Given the description of an element on the screen output the (x, y) to click on. 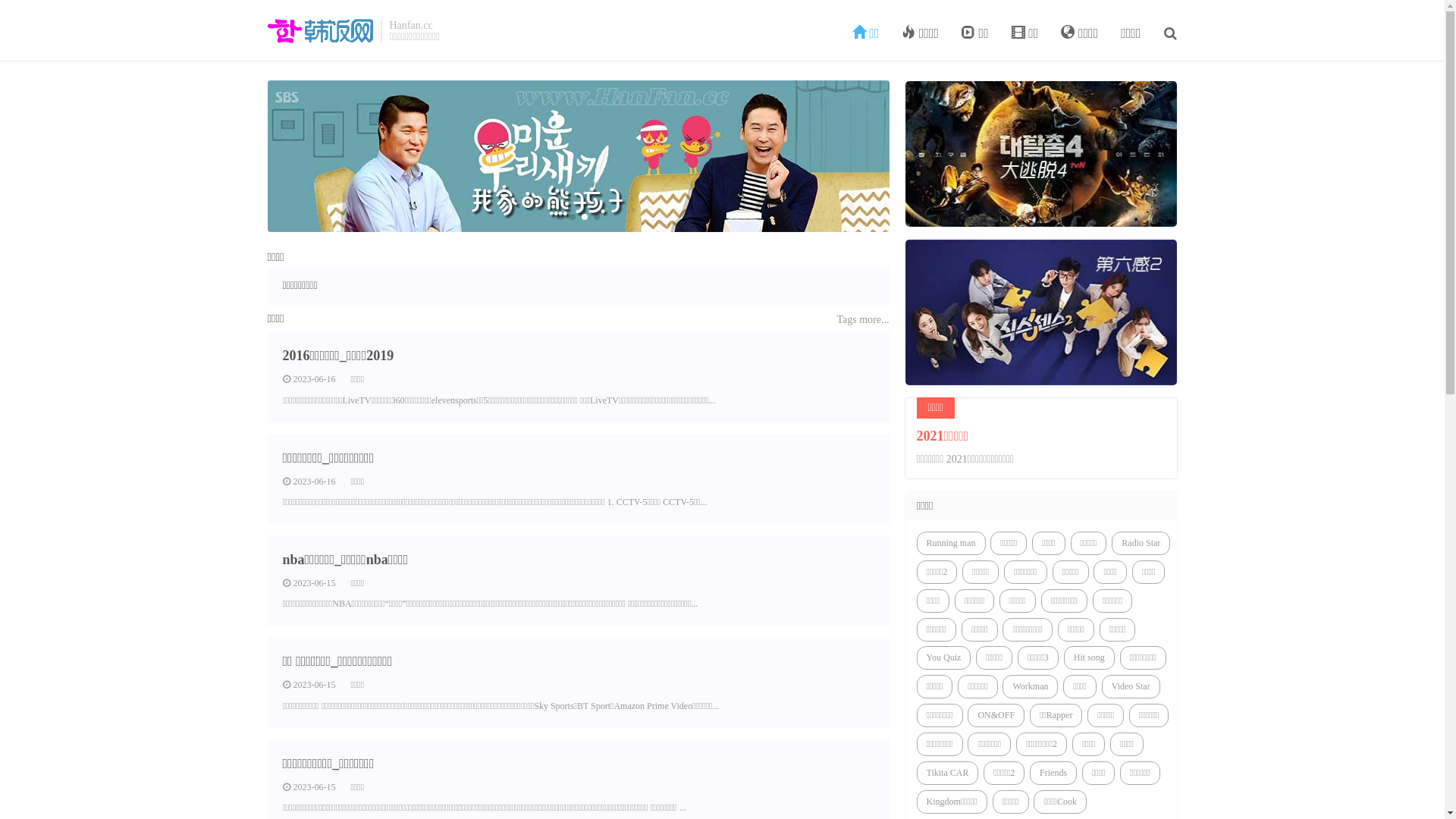
Running man Element type: text (950, 543)
ON&OFF Element type: text (995, 715)
Radio Star Element type: text (1140, 543)
Tikita CAR Element type: text (947, 772)
Video Star Element type: text (1130, 686)
You Quiz Element type: text (943, 657)
Tags more... Element type: text (862, 319)
Friends Element type: text (1052, 772)
Hit song Element type: text (1088, 657)
Workman Element type: text (1029, 686)
